Given the description of an element on the screen output the (x, y) to click on. 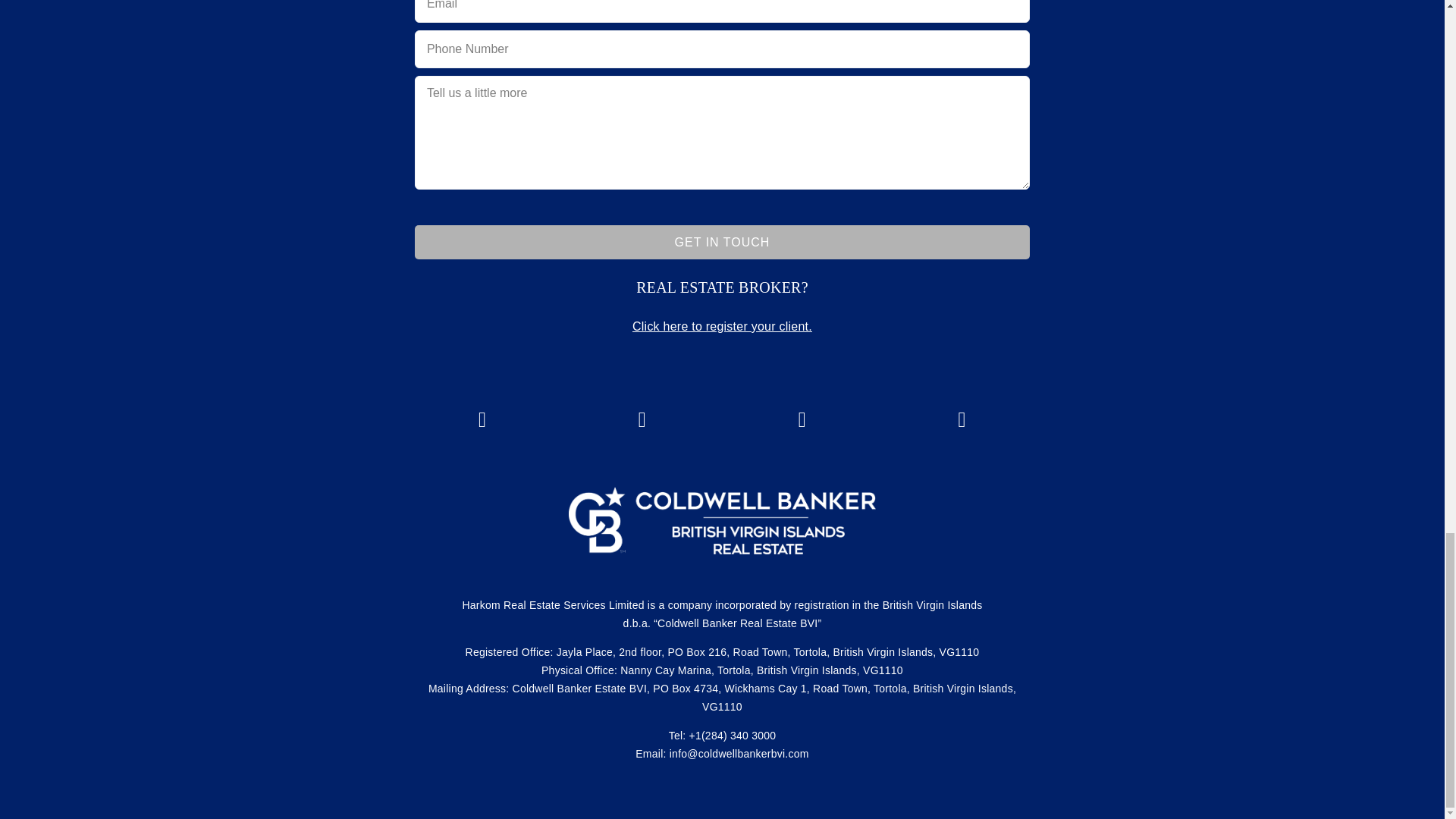
Page 1 (721, 287)
GET IN TOUCH (721, 242)
CBBVI website logo 2024 transparent background 3 (722, 519)
